Given the description of an element on the screen output the (x, y) to click on. 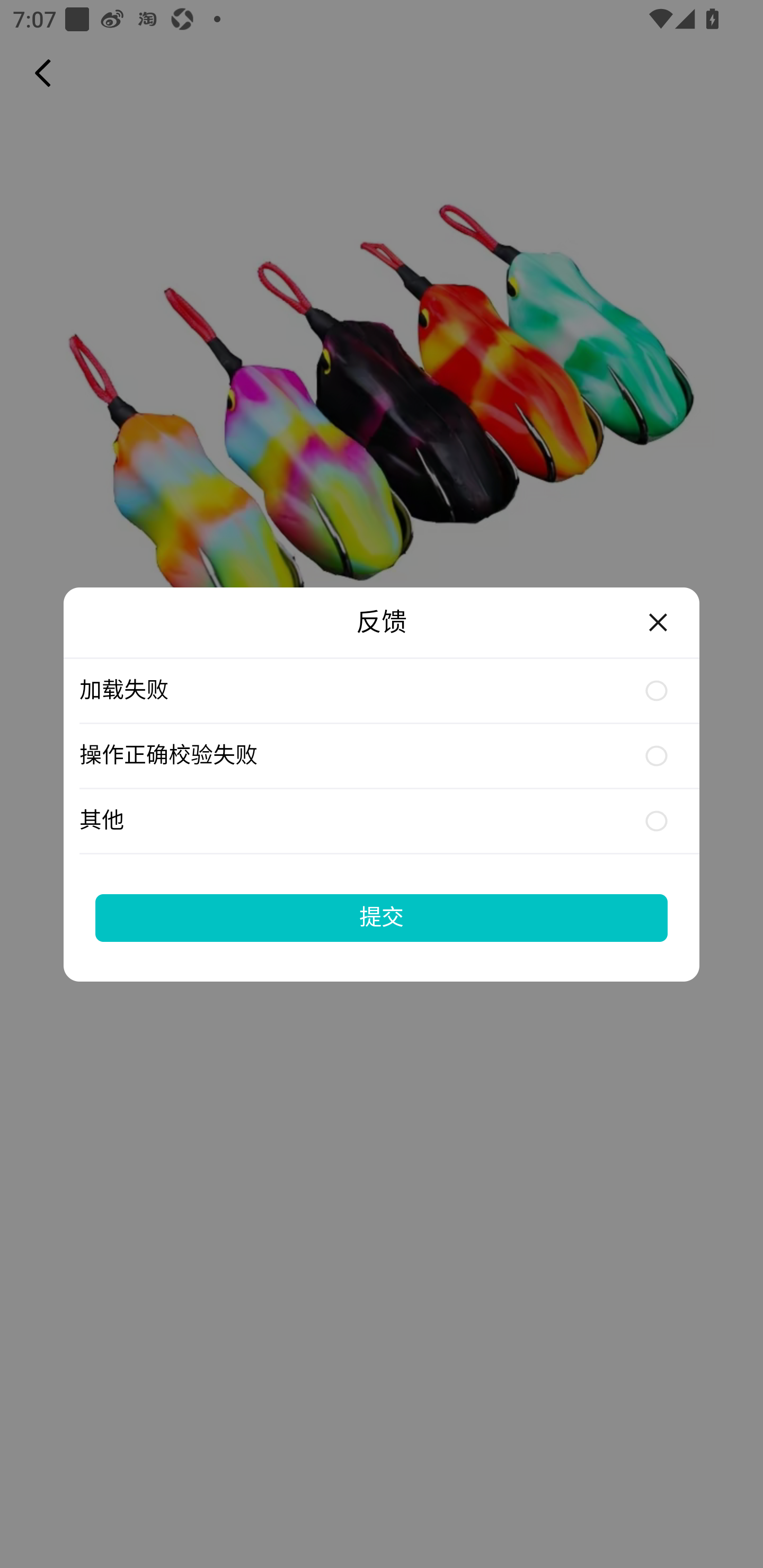
提交 (381, 917)
